Given the description of an element on the screen output the (x, y) to click on. 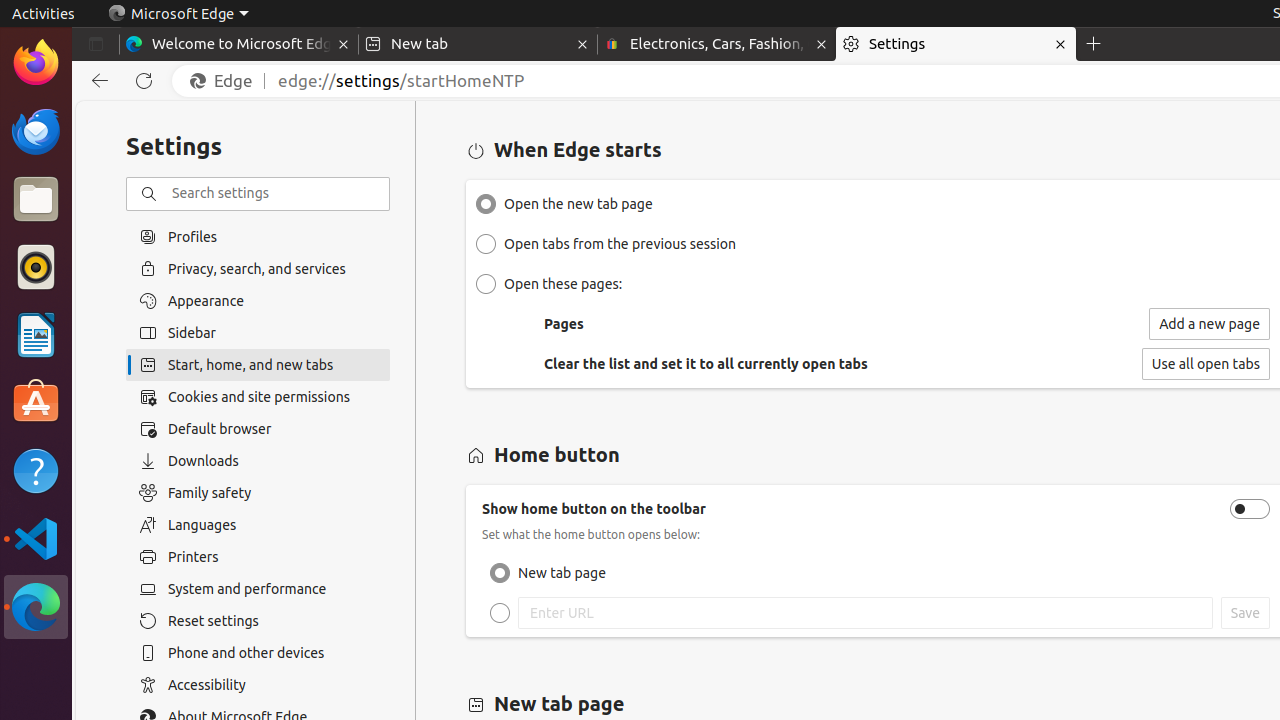
Refresh Element type: push-button (144, 81)
Appearance Element type: tree-item (258, 301)
Tab actions menu Element type: push-button (96, 44)
Default browser Element type: tree-item (258, 429)
Save Element type: push-button (1245, 613)
